Given the description of an element on the screen output the (x, y) to click on. 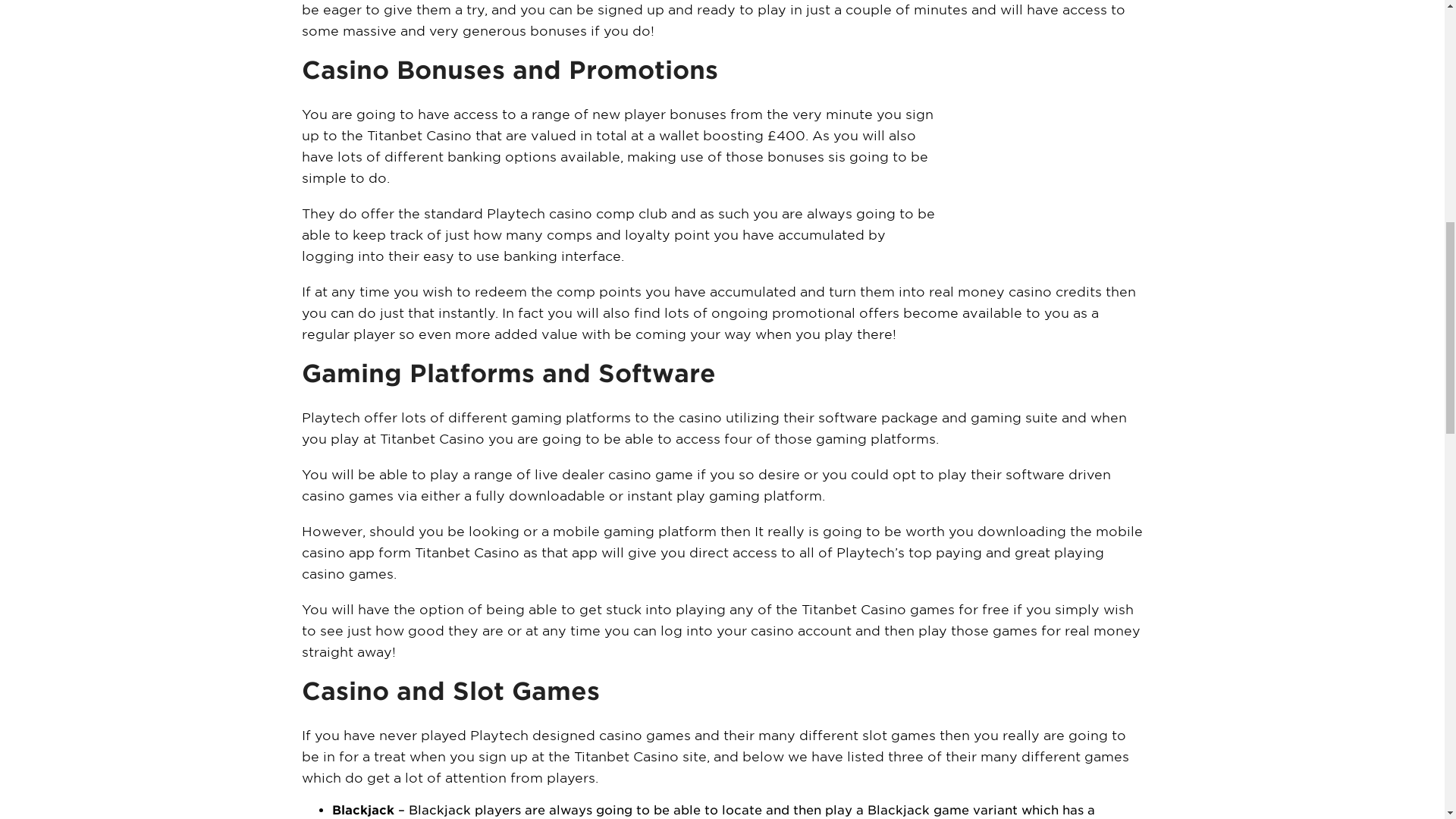
Titanbet Casino (1047, 160)
